Given the description of an element on the screen output the (x, y) to click on. 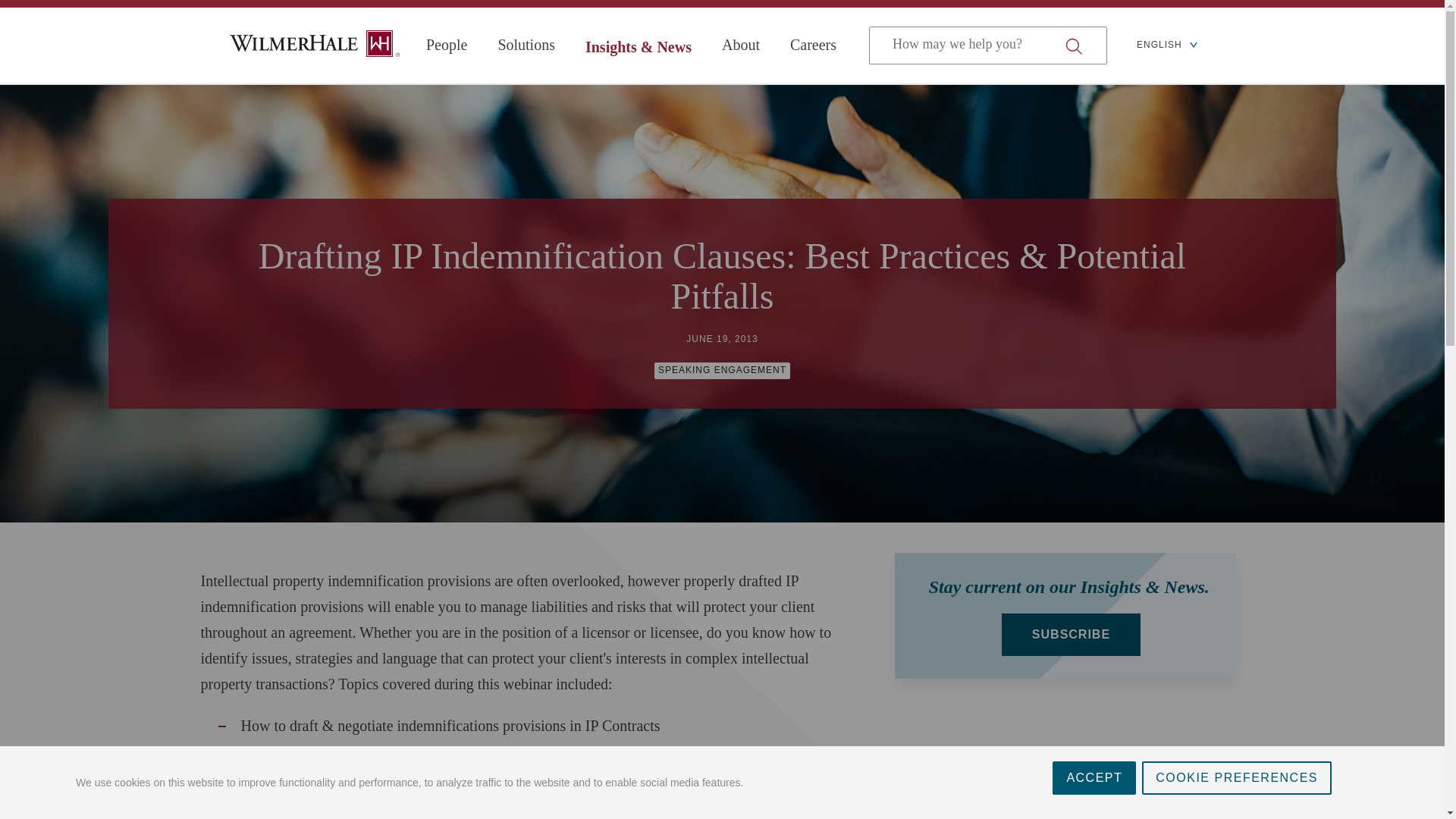
People (446, 45)
COOKIE PREFERENCES (1236, 811)
Careers (812, 45)
About (741, 45)
Solutions (525, 45)
ENGLISH (1166, 45)
